Given the description of an element on the screen output the (x, y) to click on. 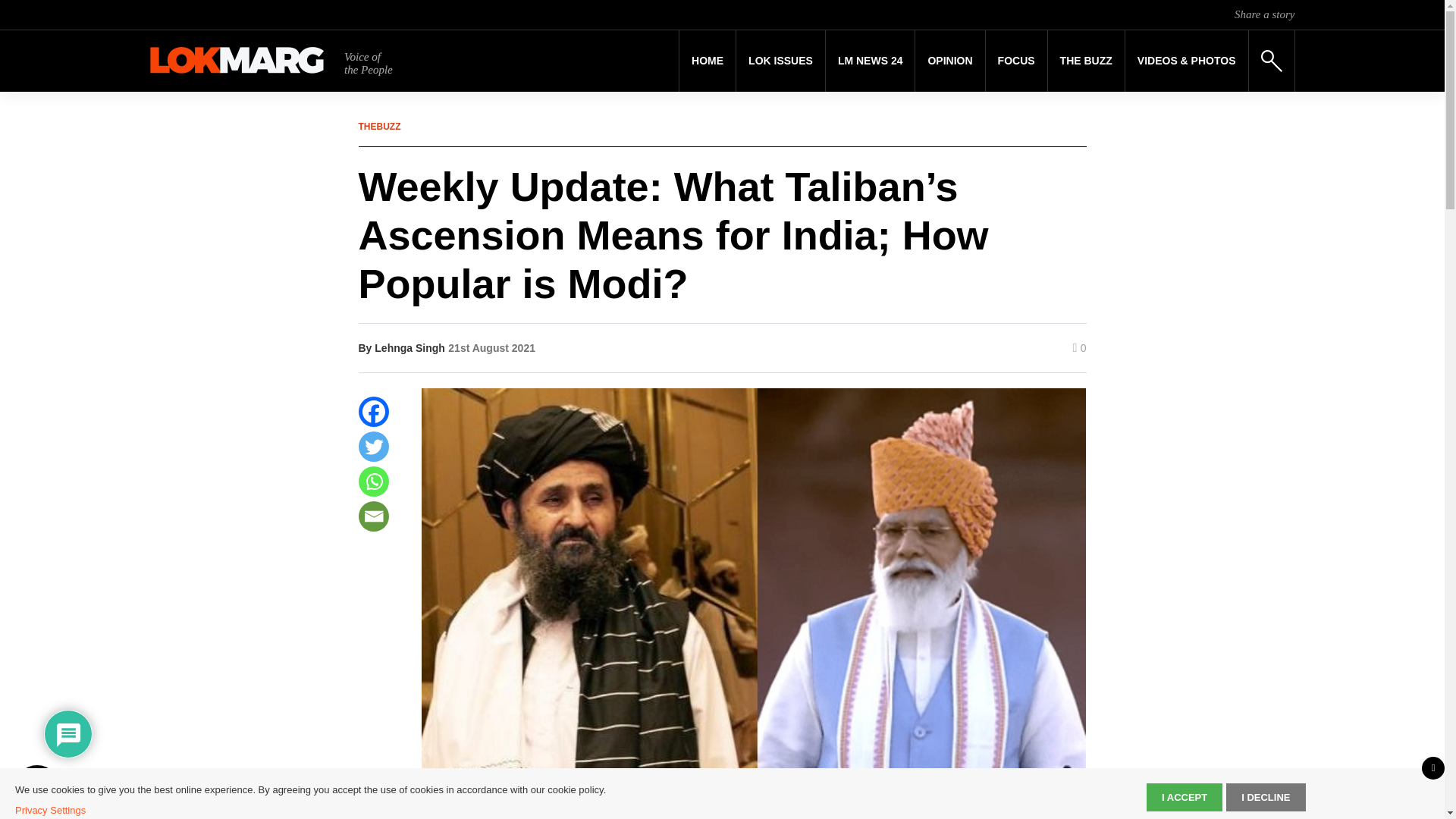
HOME (707, 60)
LOK ISSUES (780, 60)
Lehnga Singh (409, 347)
Lok Issues (780, 60)
Whatsapp (373, 481)
Share a story (1264, 14)
LM News 24 (870, 60)
Facebook (373, 411)
FOCUS (1015, 60)
Focus (1015, 60)
Home (707, 60)
THE BUZZ (1086, 60)
OPINION (949, 60)
THE BUZZ (1086, 60)
Opinion (949, 60)
